Given the description of an element on the screen output the (x, y) to click on. 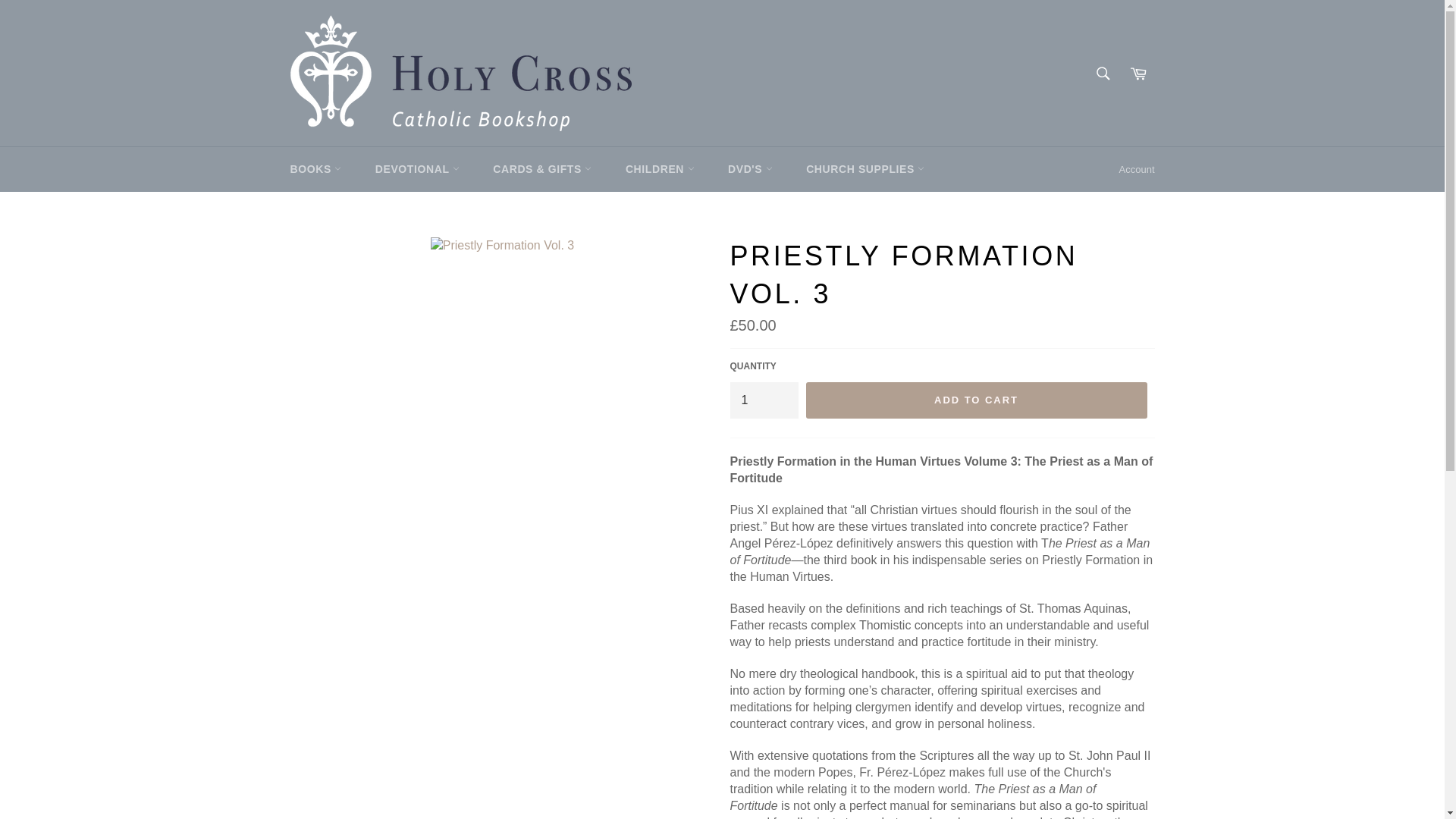
1 (763, 400)
